Given the description of an element on the screen output the (x, y) to click on. 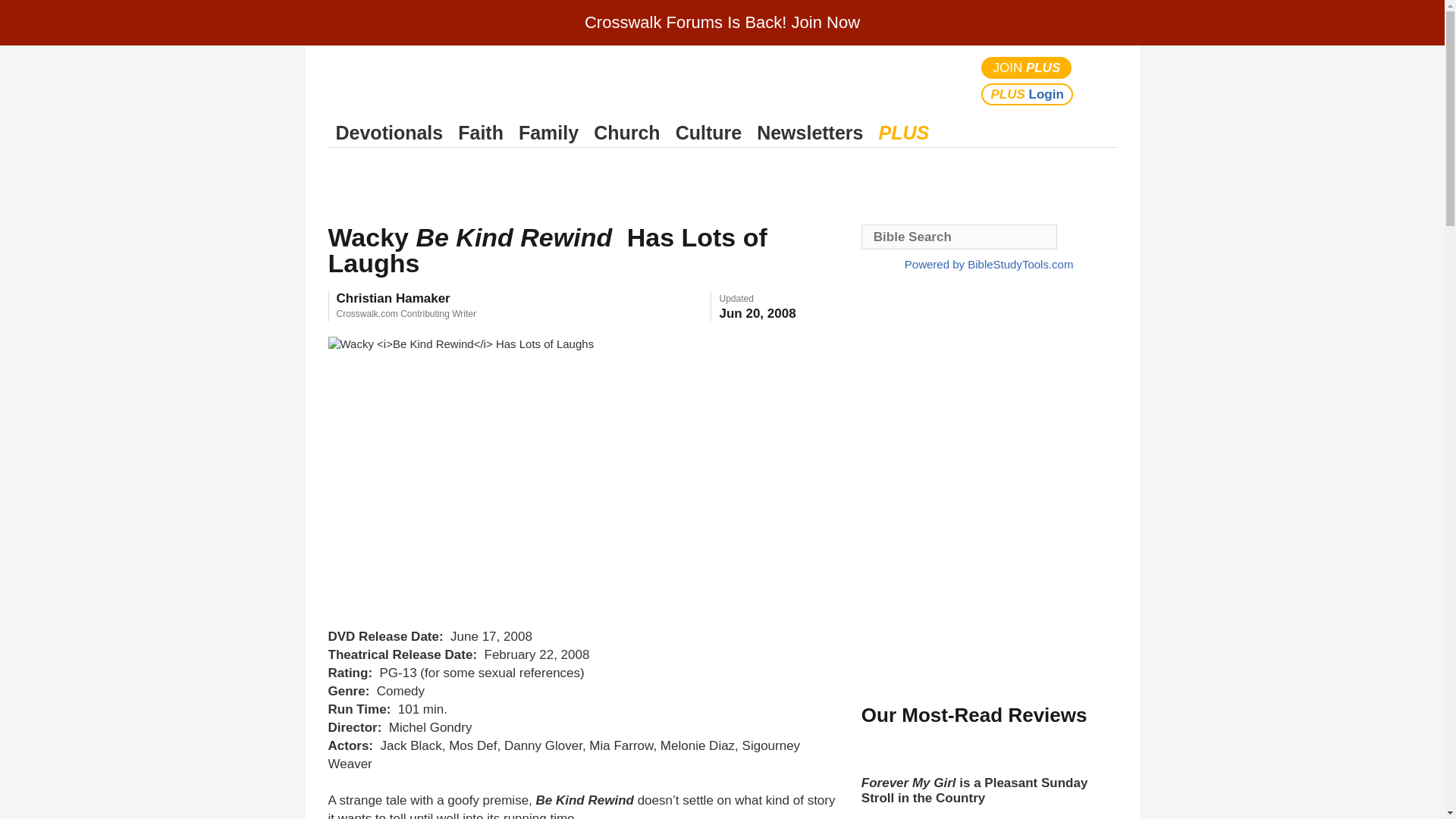
Join Plus (1026, 67)
JOIN PLUS (1026, 67)
Search (1101, 80)
PLUS Login (1026, 94)
Faith (481, 132)
Devotionals (389, 132)
Family (548, 132)
Plus Login (1026, 94)
